Given the description of an element on the screen output the (x, y) to click on. 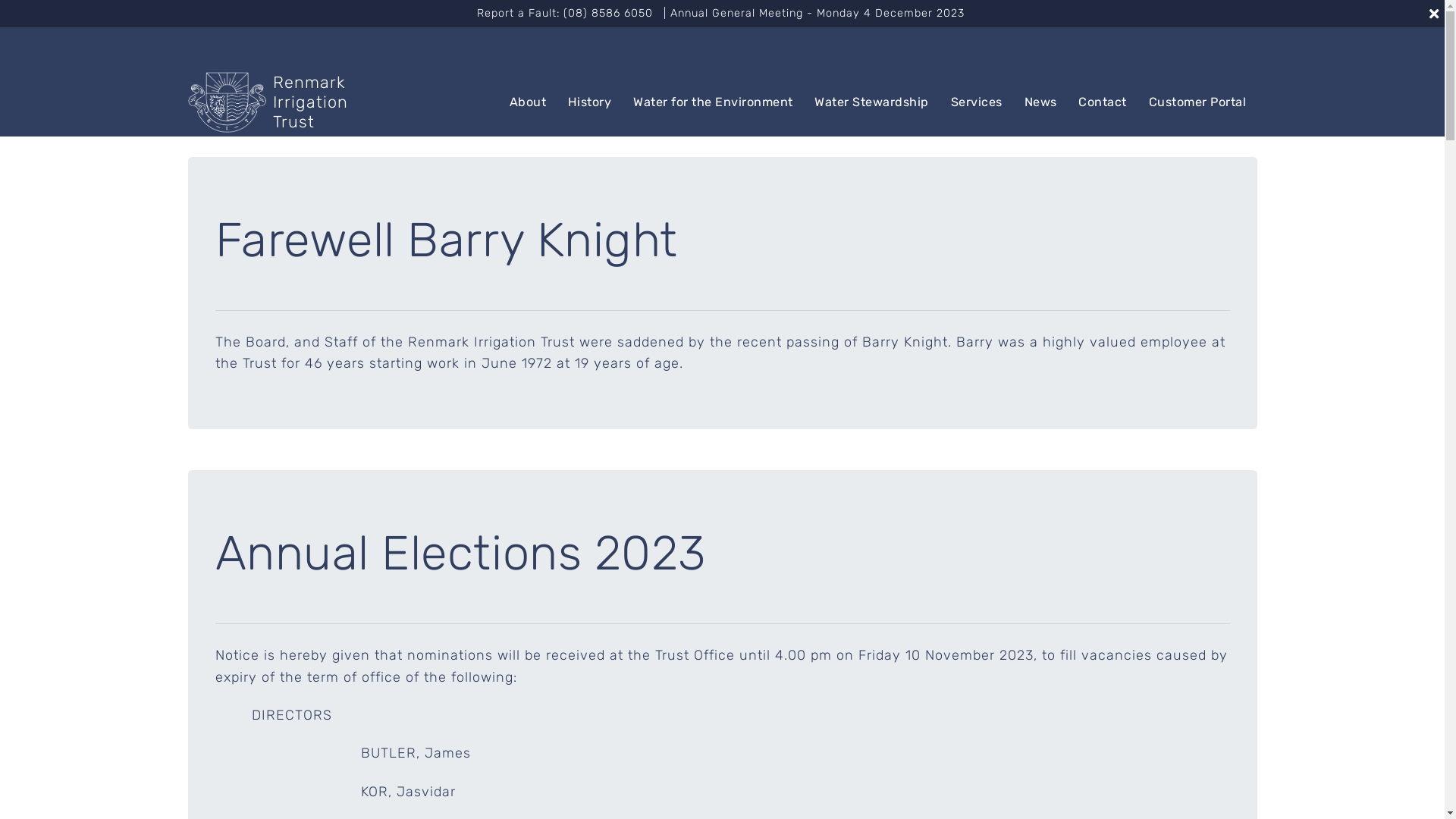
| Annual General Meeting - Monday 4 December 2023 Element type: text (815, 13)
Water for the Environment Element type: text (712, 101)
Contact Element type: text (1102, 101)
Report a Fault: (08) 8586 6050 Element type: text (563, 13)
About Element type: text (527, 101)
Water Stewardship Element type: text (871, 101)
Renmark
Irrigation
Trust Element type: text (268, 102)
Customer Portal Element type: text (1196, 101)
Services Element type: text (976, 101)
History Element type: text (589, 101)
News Element type: text (1040, 101)
